Given the description of an element on the screen output the (x, y) to click on. 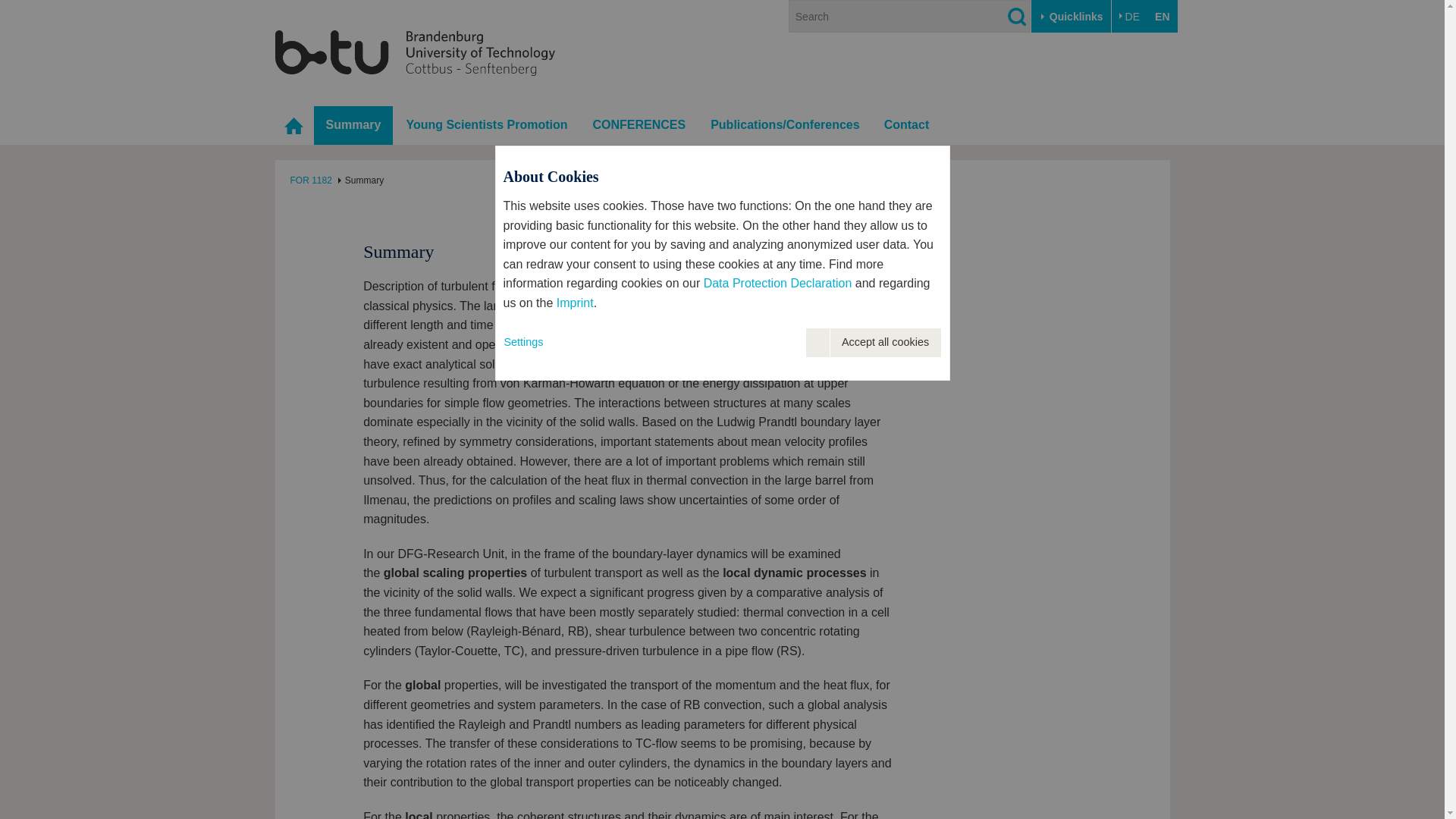
Contact (907, 125)
FOR 1182 (310, 180)
DE (1129, 16)
CONFERENCES (638, 125)
Young Scientists Promotion (486, 125)
Zur Startseite (414, 51)
Quicklinks (1070, 16)
Summary (353, 125)
